Given the description of an element on the screen output the (x, y) to click on. 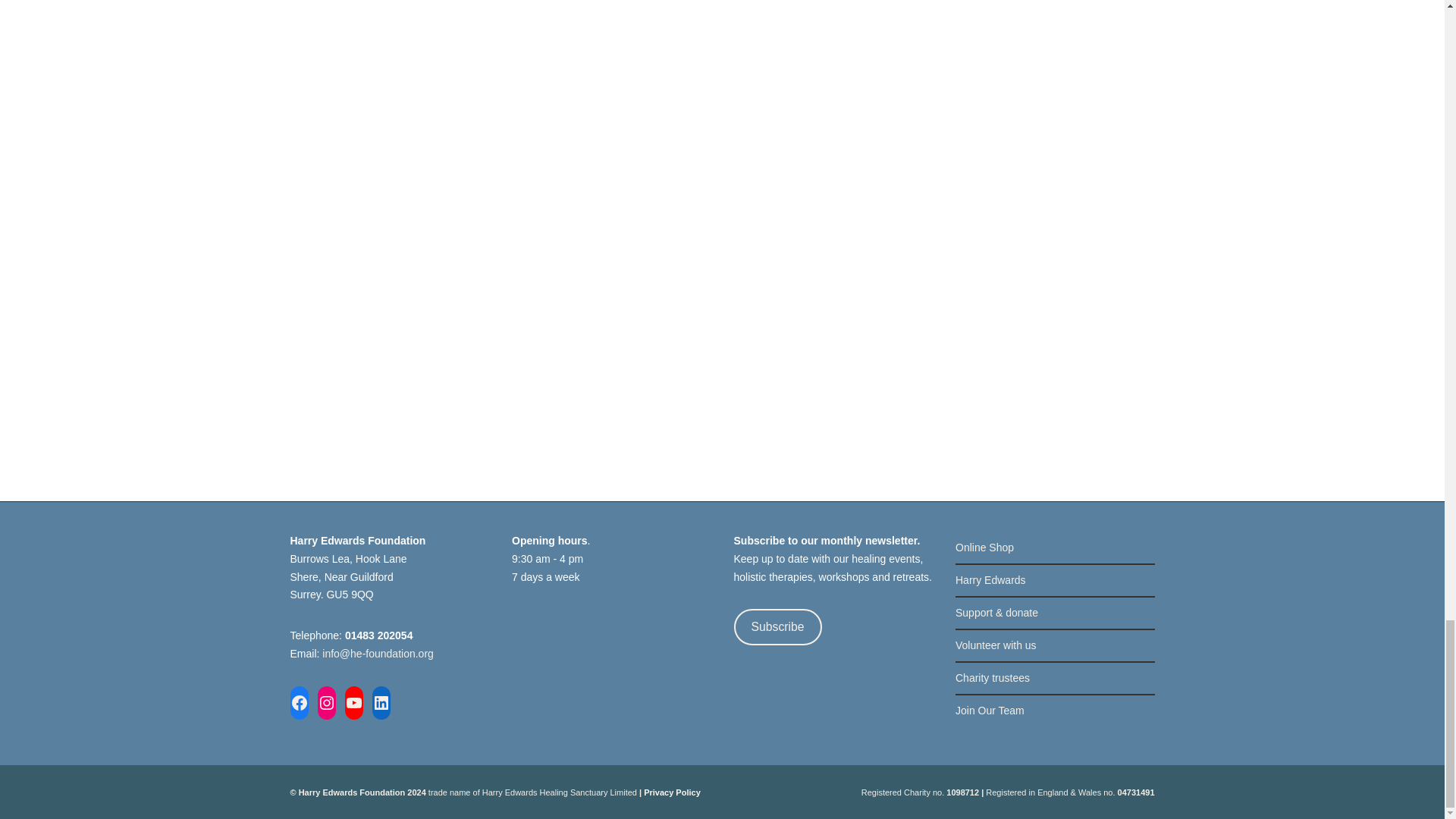
Subscribe (777, 626)
LinkedIn (380, 702)
Instagram (325, 702)
Charity trustees (1054, 677)
Online Shop (1054, 547)
YouTube (352, 702)
Facebook (298, 702)
Harry Edwards (1054, 580)
Volunteer with us (1054, 644)
